Given the description of an element on the screen output the (x, y) to click on. 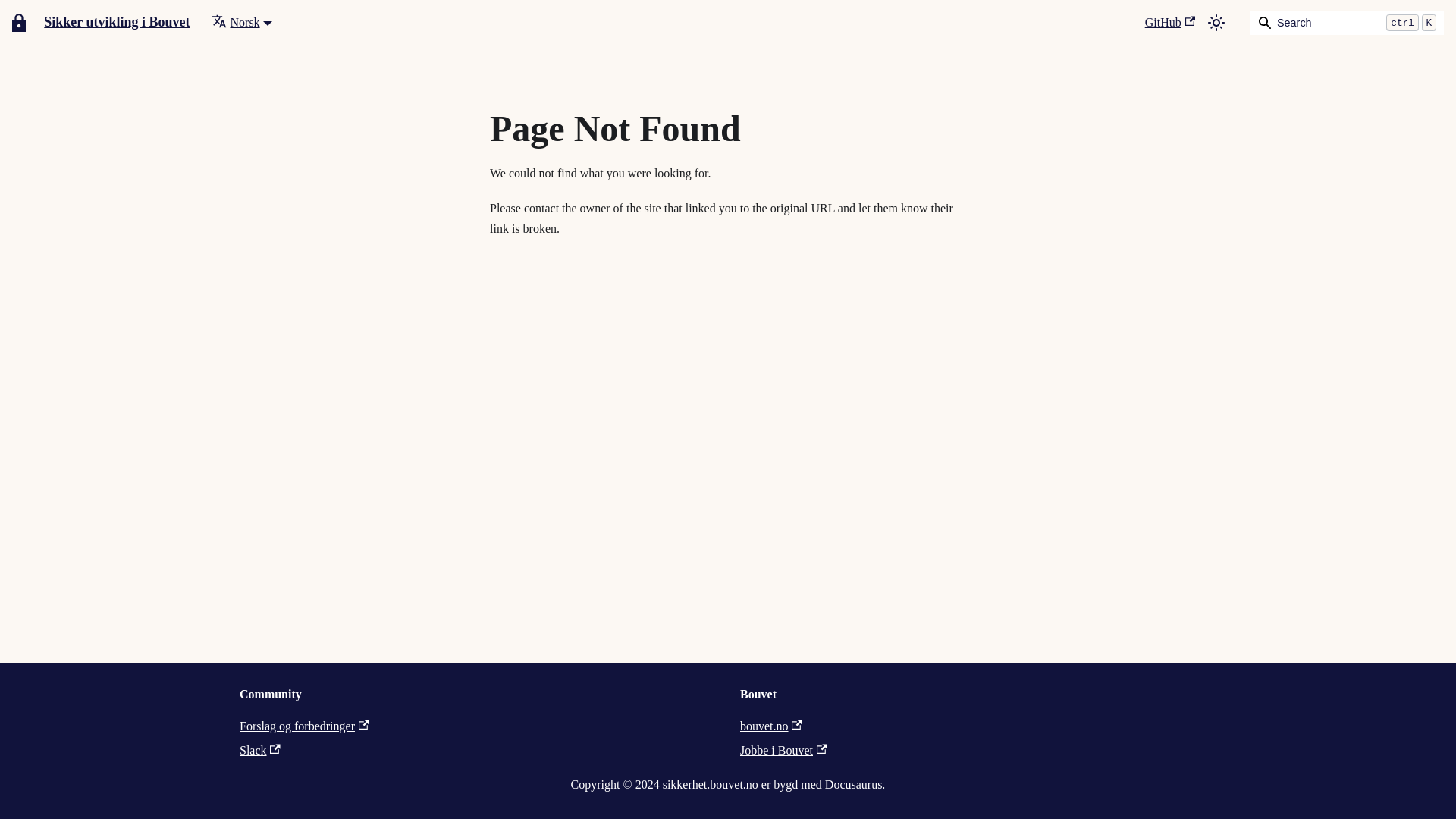
bouvet.no (770, 725)
Norsk (241, 21)
Jobbe i Bouvet (783, 749)
Sikker utvikling i Bouvet (100, 22)
Forslag og forbedringer (304, 725)
Slack (260, 749)
GitHub (1169, 22)
